Given the description of an element on the screen output the (x, y) to click on. 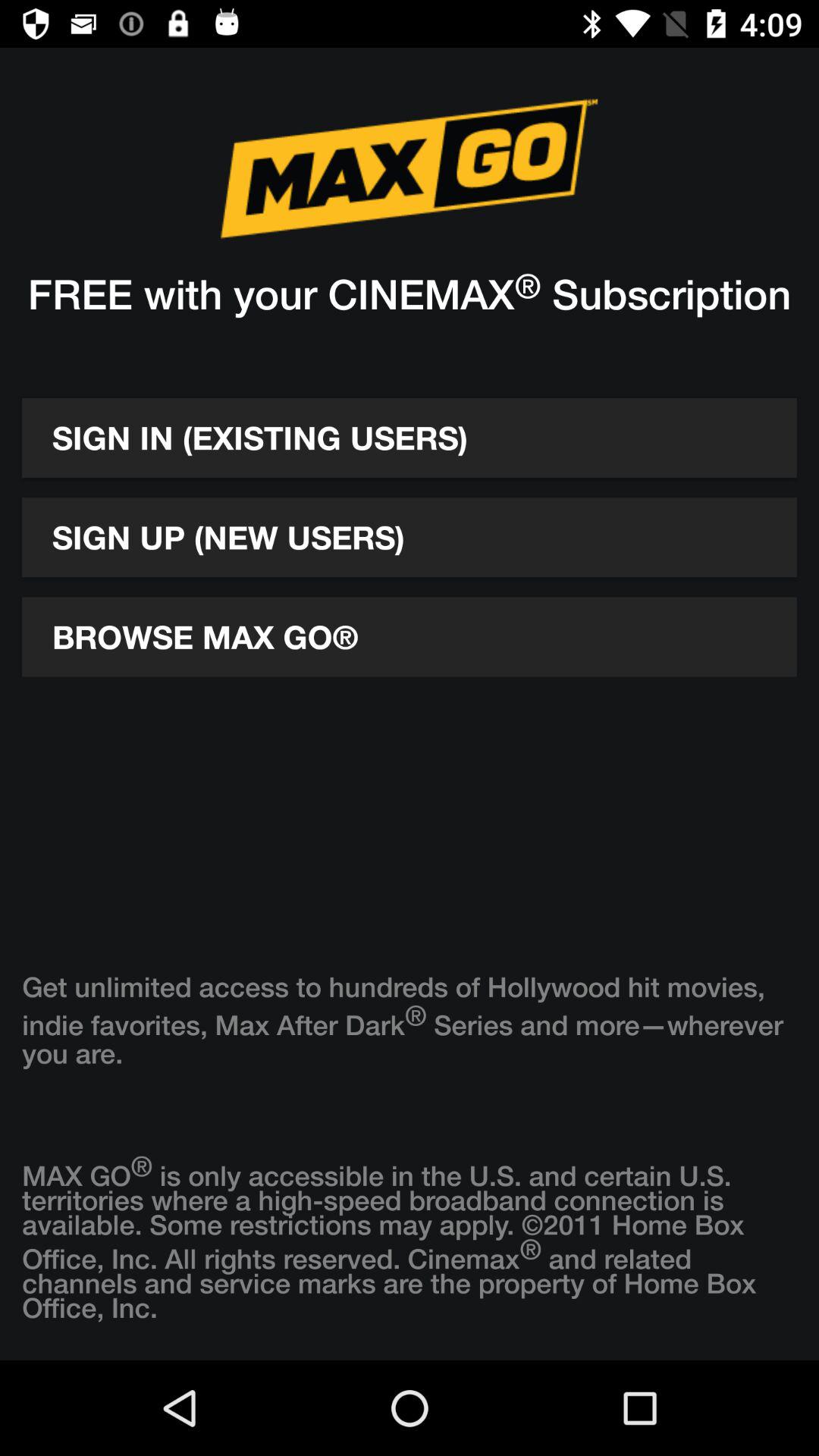
turn on the item below sign in existing icon (409, 537)
